Given the description of an element on the screen output the (x, y) to click on. 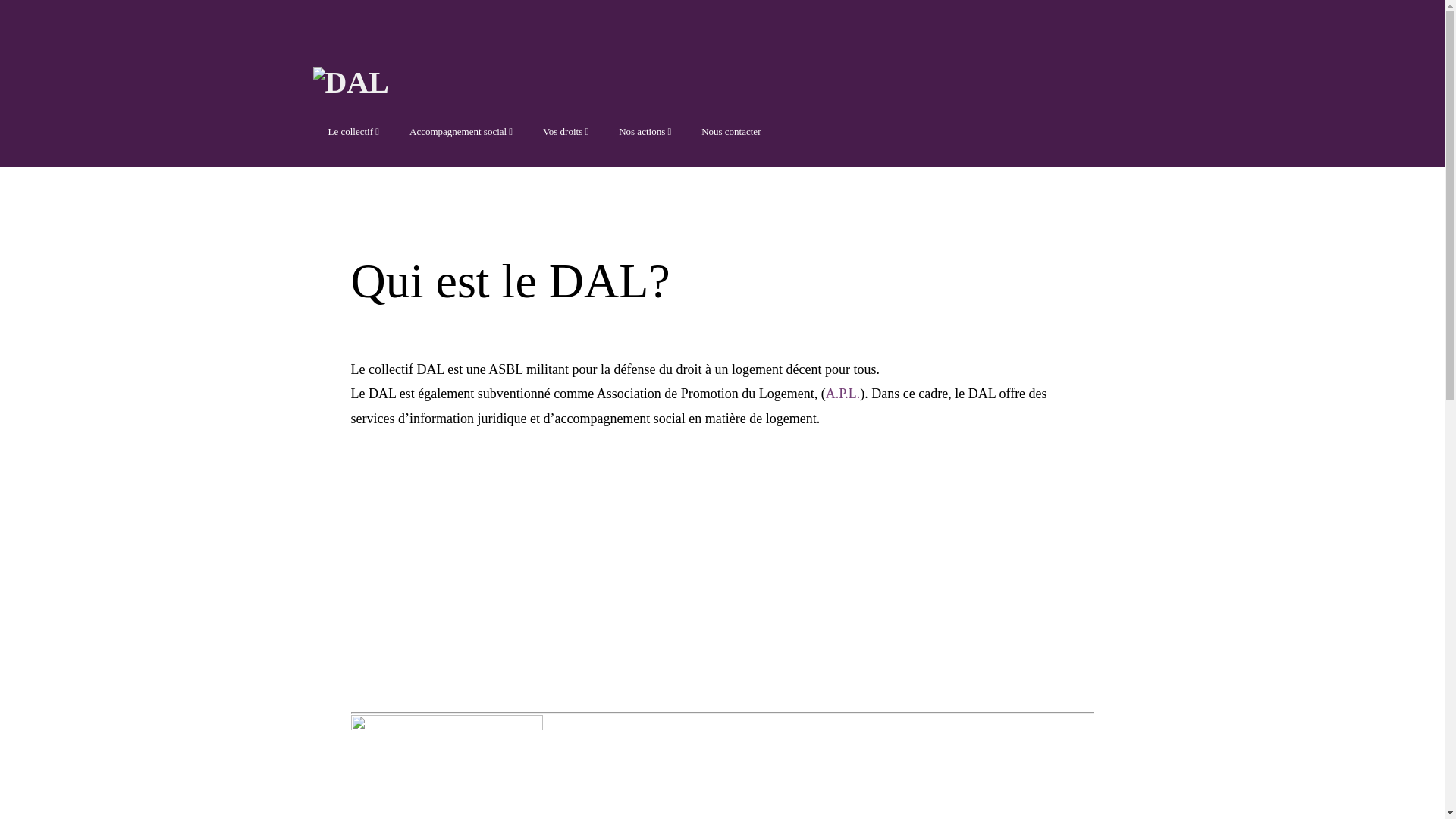
Nous contacter Element type: text (730, 130)
Nos actions Element type: text (644, 130)
Accompagnement social Element type: text (94, 54)
Menu Element type: text (328, 36)
Une Association de Promotion du Logement, c'est quoi? Element type: hover (592, 566)
Accompagnement social Element type: text (460, 130)
A.P.L. Element type: text (842, 393)
Le collectif Element type: text (94, 15)
Vos droits Element type: text (94, 93)
Nos actions Element type: text (94, 125)
Vos droits Element type: text (565, 130)
Le collectif Element type: text (353, 130)
Nous contacter Element type: text (94, 156)
